Given the description of an element on the screen output the (x, y) to click on. 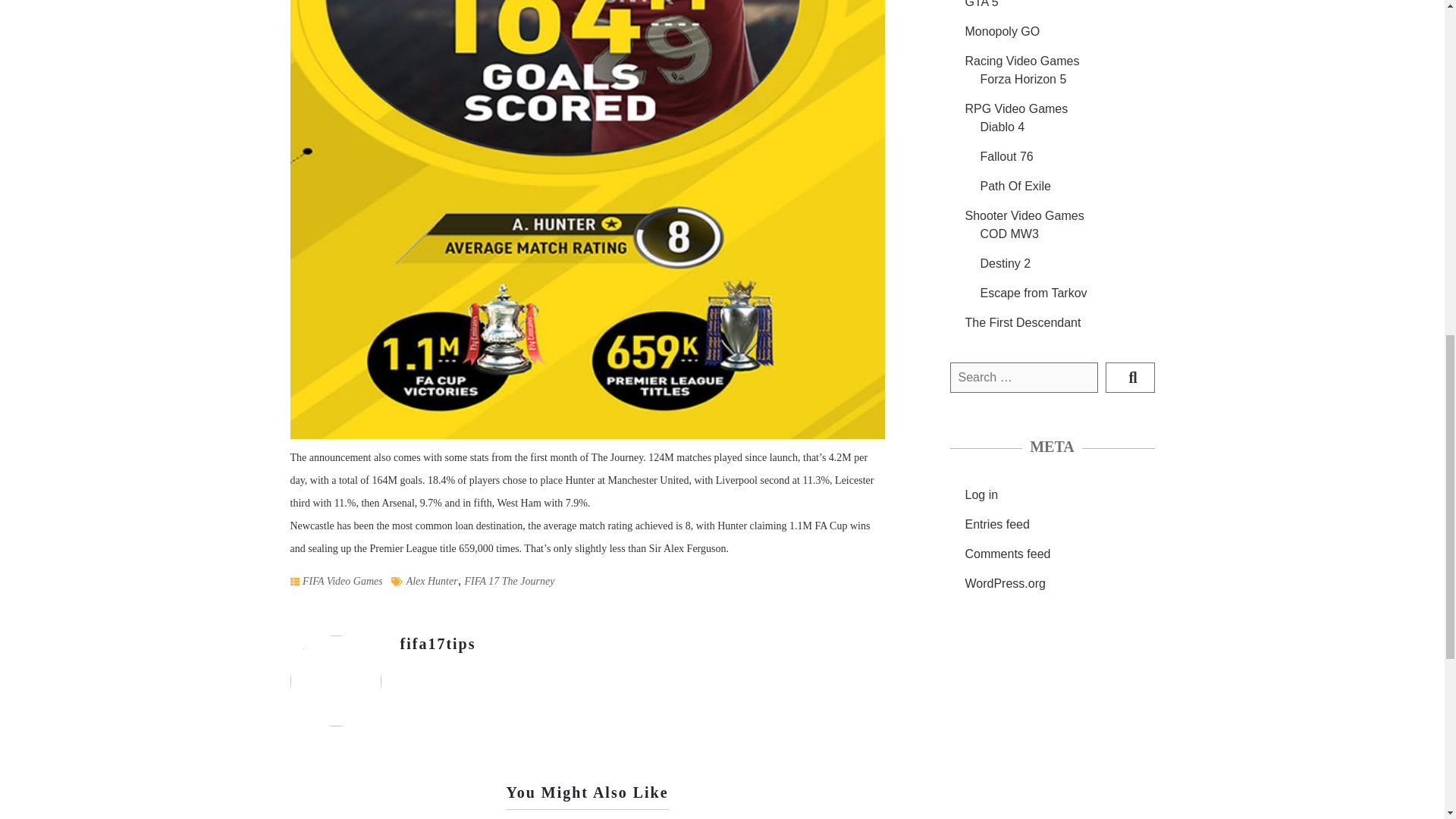
Forza Horizon 5 (1022, 78)
COD MW3 (1008, 233)
Racing Video Games (1020, 60)
Fallout 76 (1005, 155)
Posts by fifa17tips (438, 643)
Diablo 4 (1002, 126)
RPG Video Games (1015, 108)
FIFA 17 The Journey (509, 581)
Search (1129, 377)
fifa17tips (438, 643)
